Given the description of an element on the screen output the (x, y) to click on. 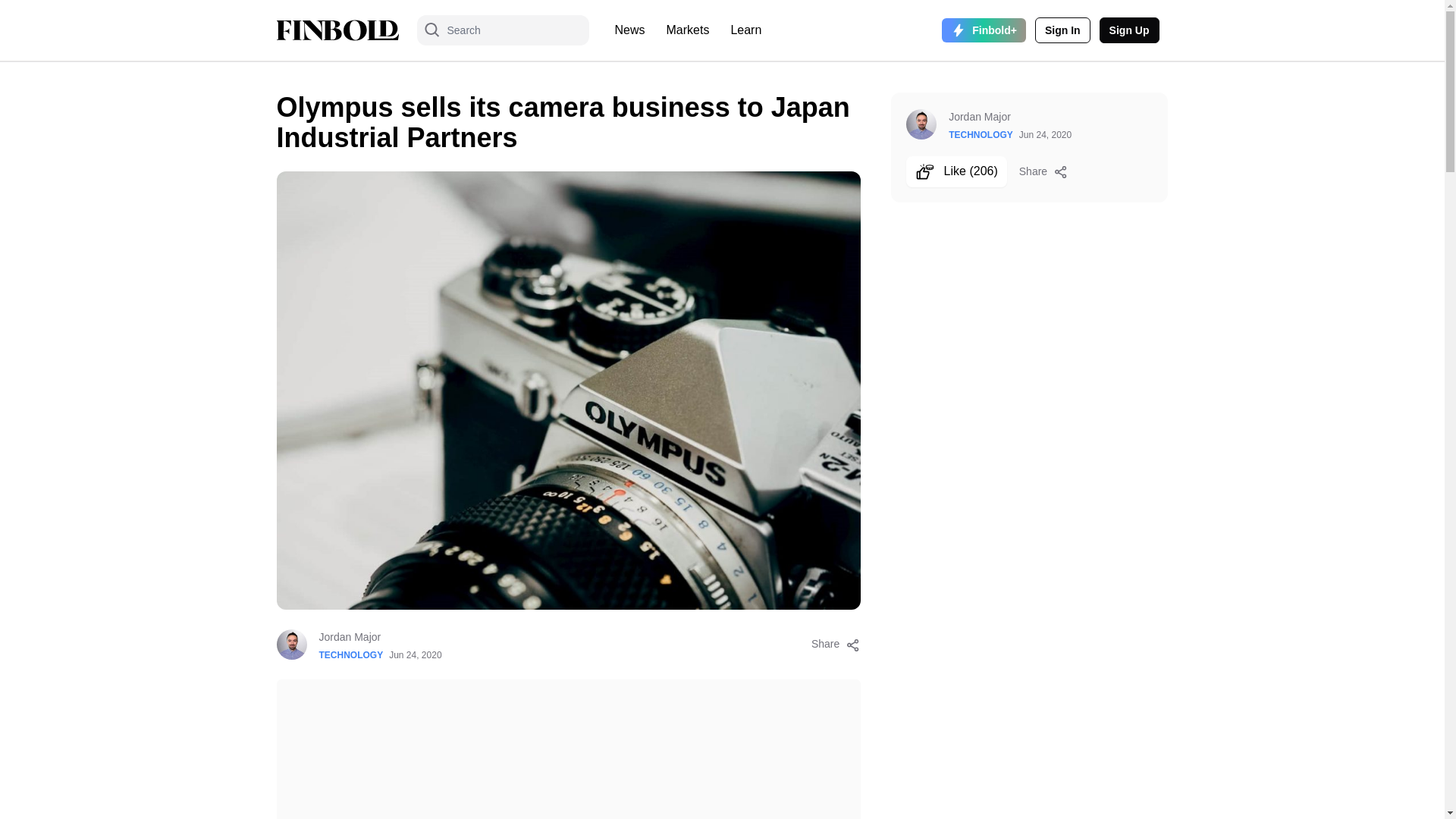
Markets (688, 29)
Sign In (1062, 30)
Finbold (336, 29)
Advertisement (568, 749)
Sign Up (1128, 30)
Learn (745, 29)
Account (1062, 30)
Account (1128, 30)
News (629, 29)
Jordan Major (379, 637)
